Given the description of an element on the screen output the (x, y) to click on. 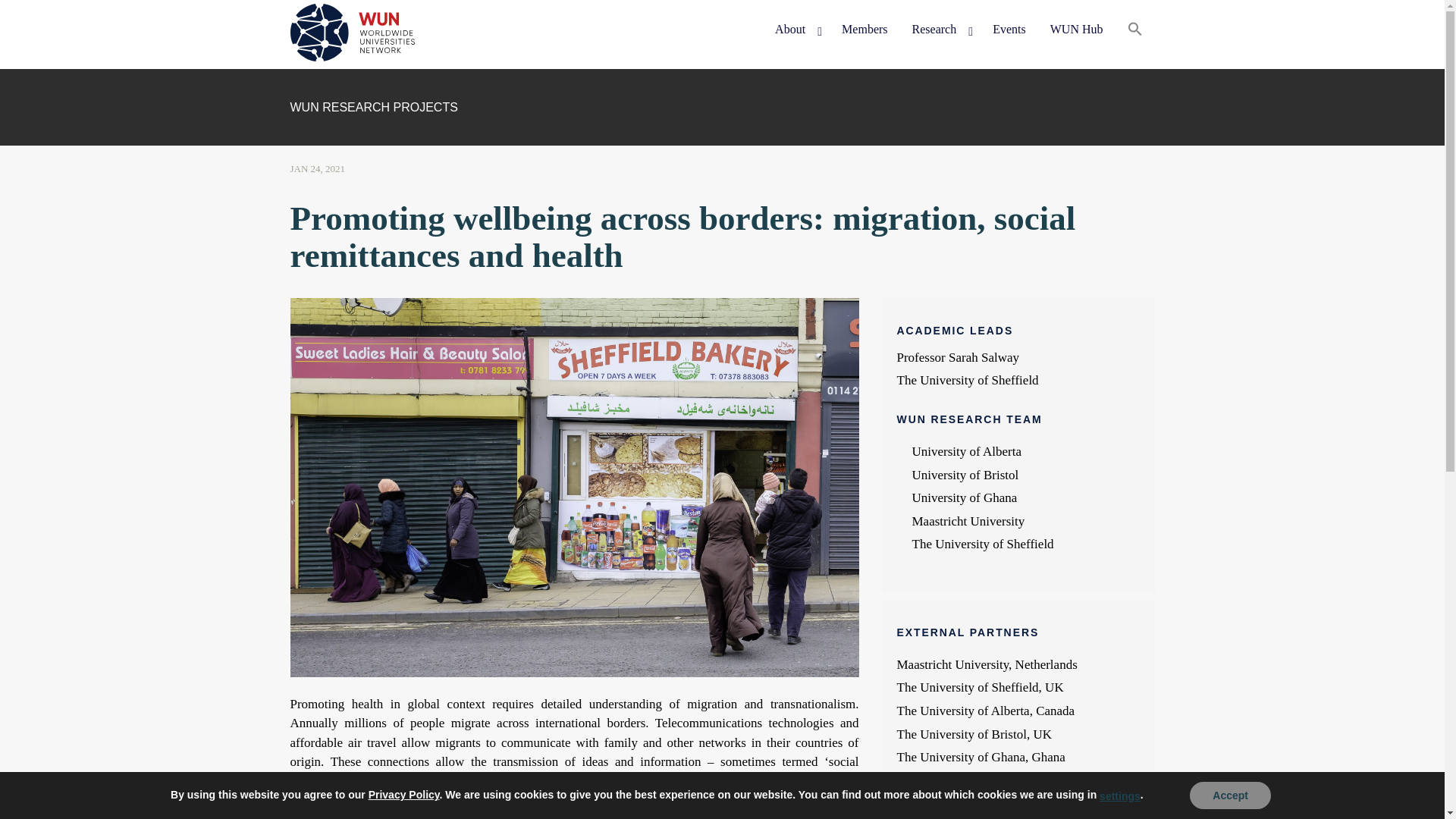
Research (940, 29)
Members (864, 29)
Events (1008, 29)
WUN Hub (1076, 29)
About (795, 29)
WUN (318, 83)
